Given the description of an element on the screen output the (x, y) to click on. 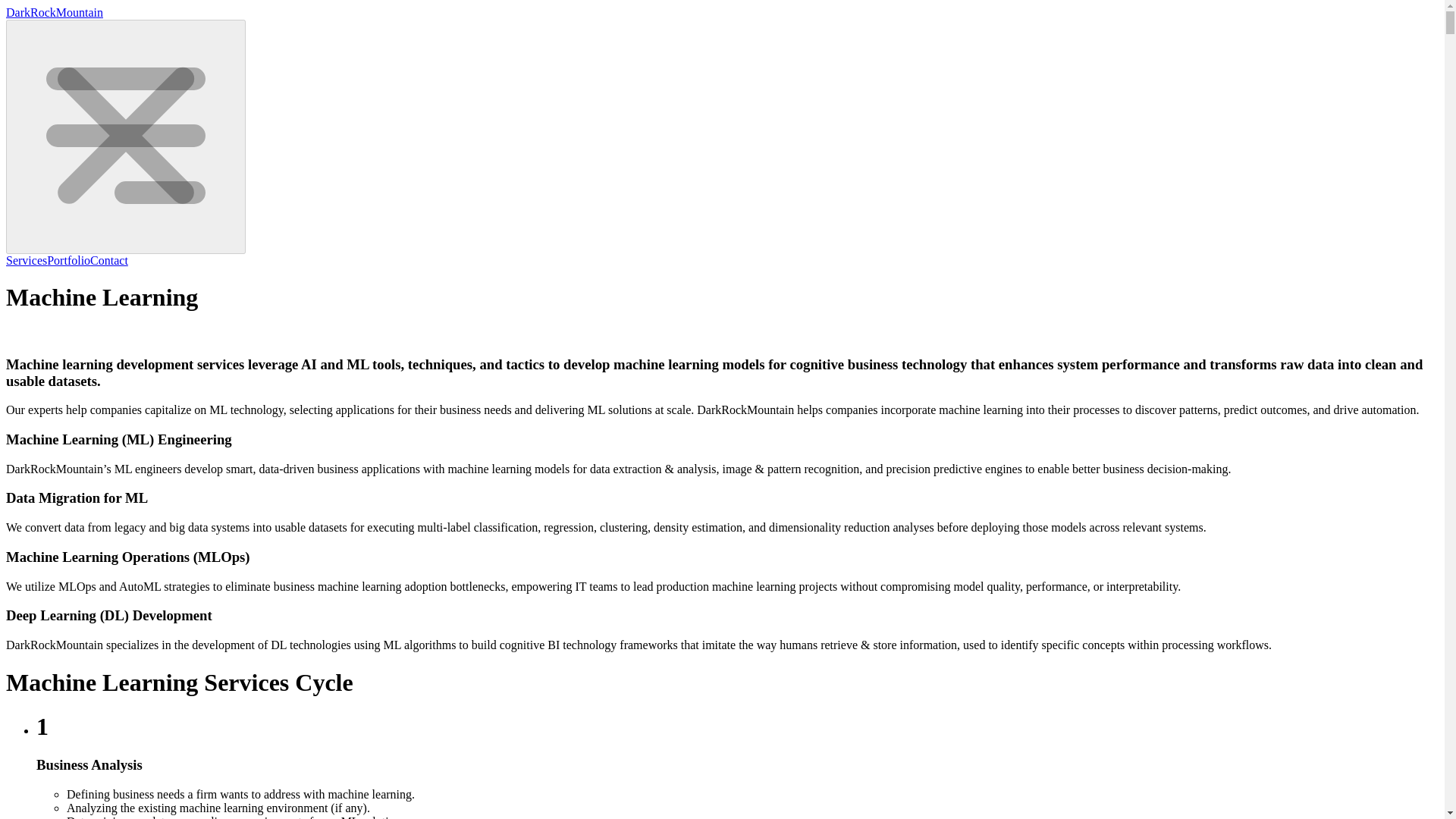
Portfolio (68, 259)
Contact (109, 259)
Portfolio (68, 259)
Services (25, 259)
Contact (109, 259)
Services (25, 259)
